Given the description of an element on the screen output the (x, y) to click on. 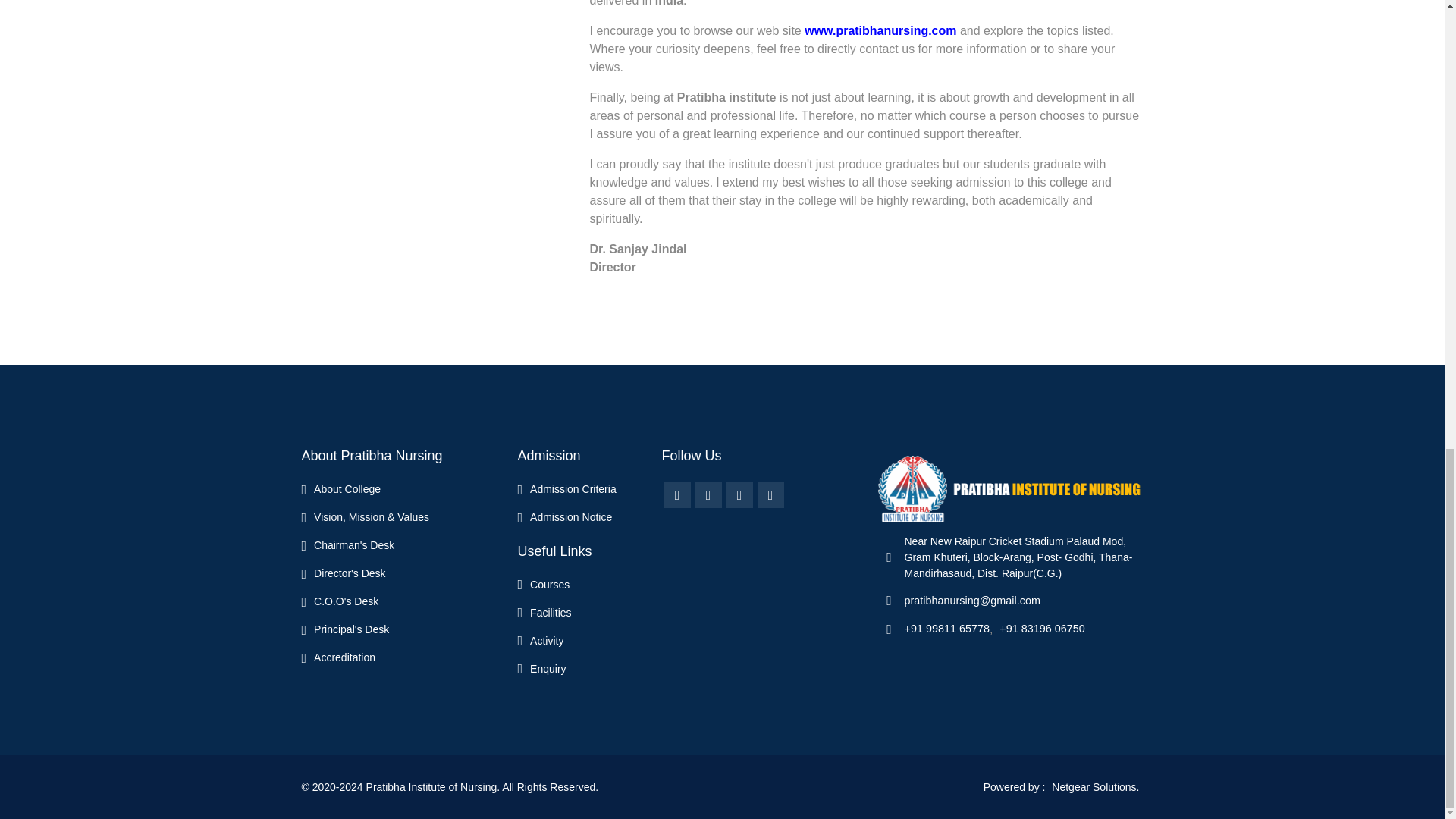
www.pratibhanursing.com (880, 30)
About College (341, 489)
Pratibha Institute of Nursing (1009, 488)
